Given the description of an element on the screen output the (x, y) to click on. 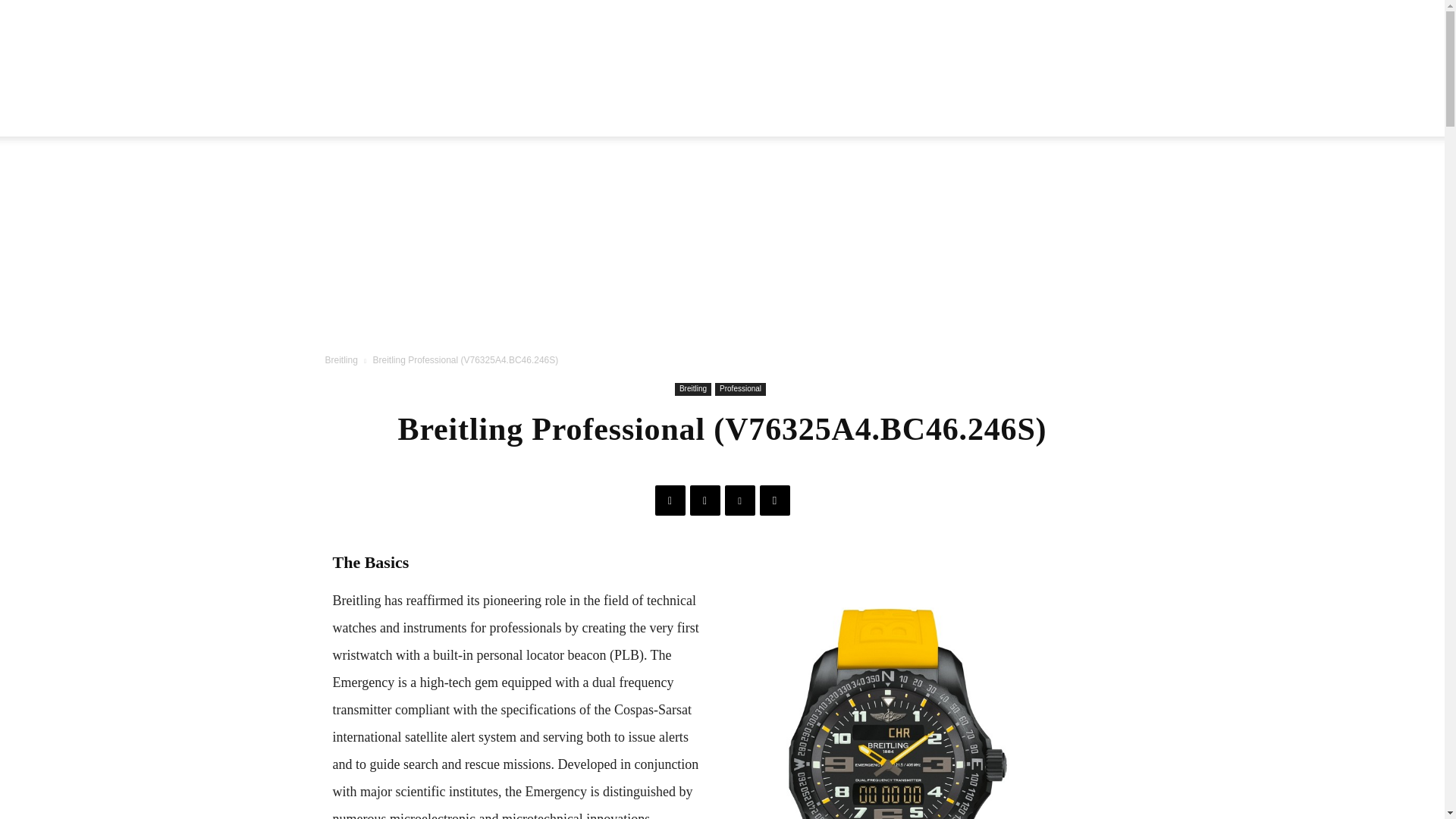
Professional (739, 389)
Twitter (705, 500)
Email (775, 500)
Breitling (340, 359)
Breitling (693, 389)
Pinterest (740, 500)
Facebook (670, 500)
View all posts in Breitling (340, 359)
Wrist Watch Details (721, 68)
